Given the description of an element on the screen output the (x, y) to click on. 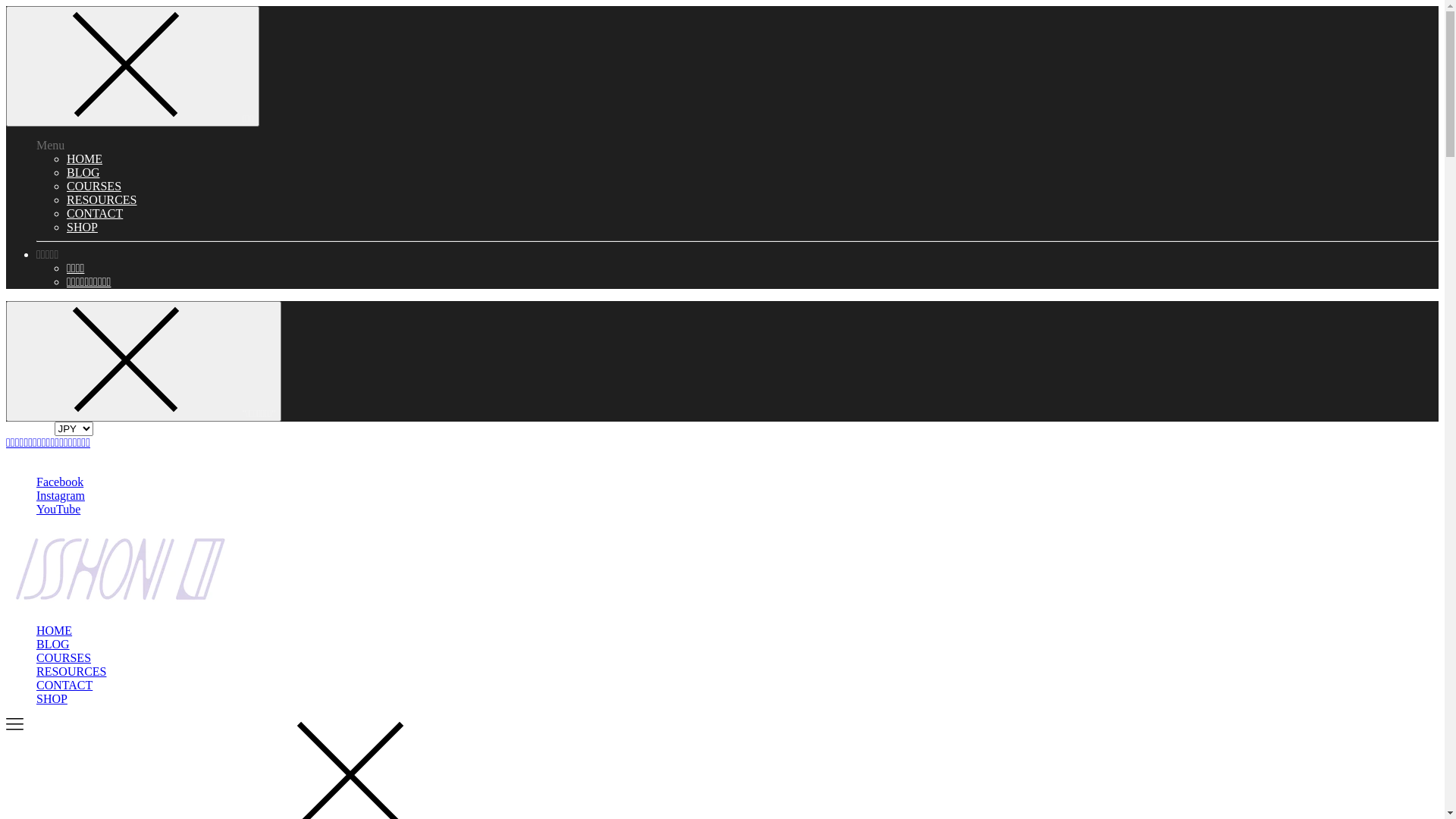
CONTACT Element type: text (64, 684)
COURSES Element type: text (63, 657)
Instagram Element type: text (60, 495)
RESOURCES Element type: text (71, 671)
Facebook Element type: text (59, 481)
RESOURCES Element type: text (101, 199)
BLOG Element type: text (52, 643)
CONTACT Element type: text (94, 213)
SHOP Element type: text (51, 698)
HOME Element type: text (84, 158)
BLOG Element type: text (83, 172)
YouTube Element type: text (58, 508)
COURSES Element type: text (93, 185)
HOME Element type: text (54, 630)
SHOP Element type: text (81, 226)
